Given the description of an element on the screen output the (x, y) to click on. 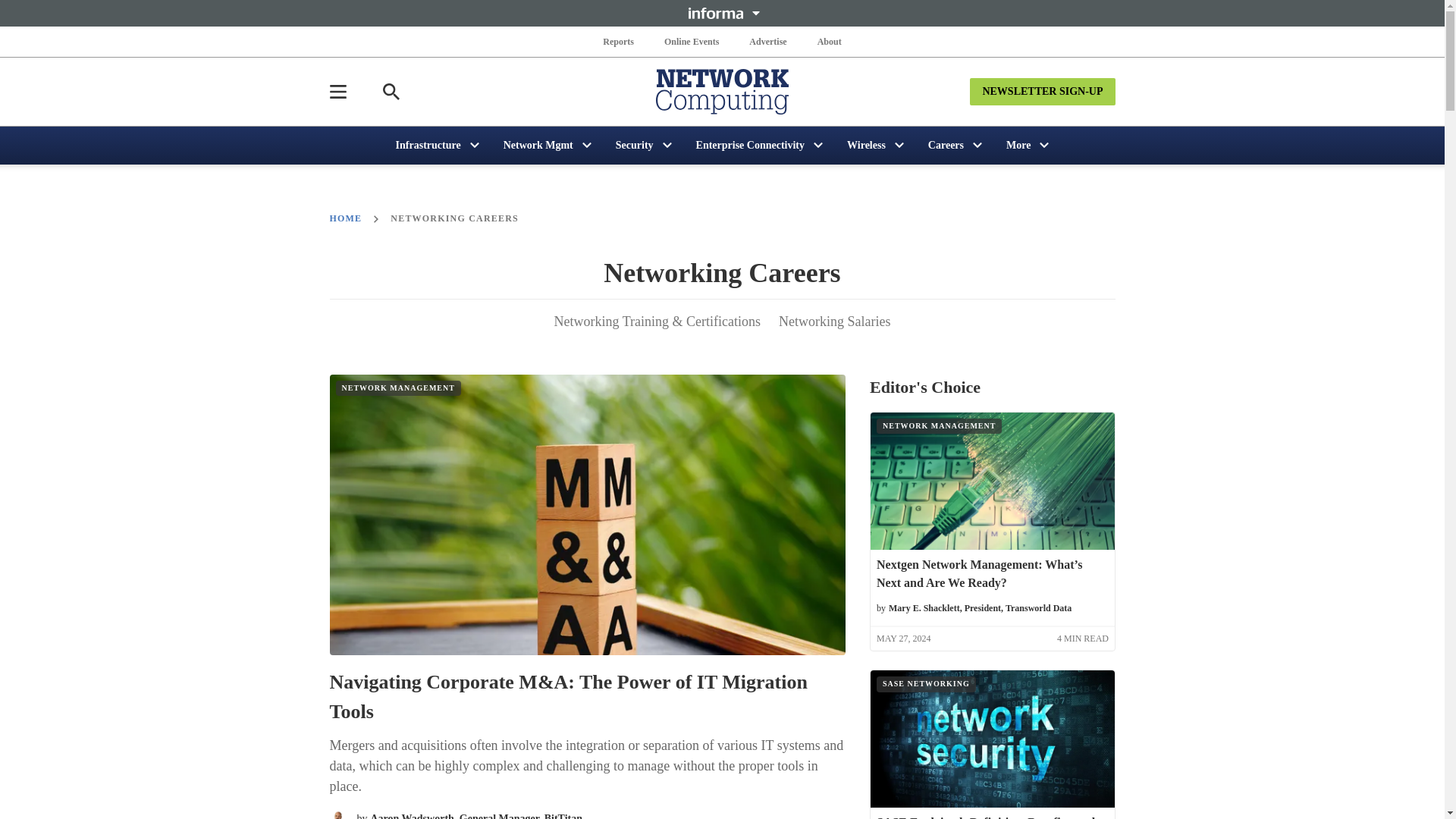
Picture of Aaron Wadsworth, General Manager, BitTitan (338, 814)
NEWSLETTER SIGN-UP (1042, 90)
Advertise (767, 41)
Reports (618, 41)
Network Computing Logo (722, 91)
Online Events (691, 41)
About (828, 41)
